Given the description of an element on the screen output the (x, y) to click on. 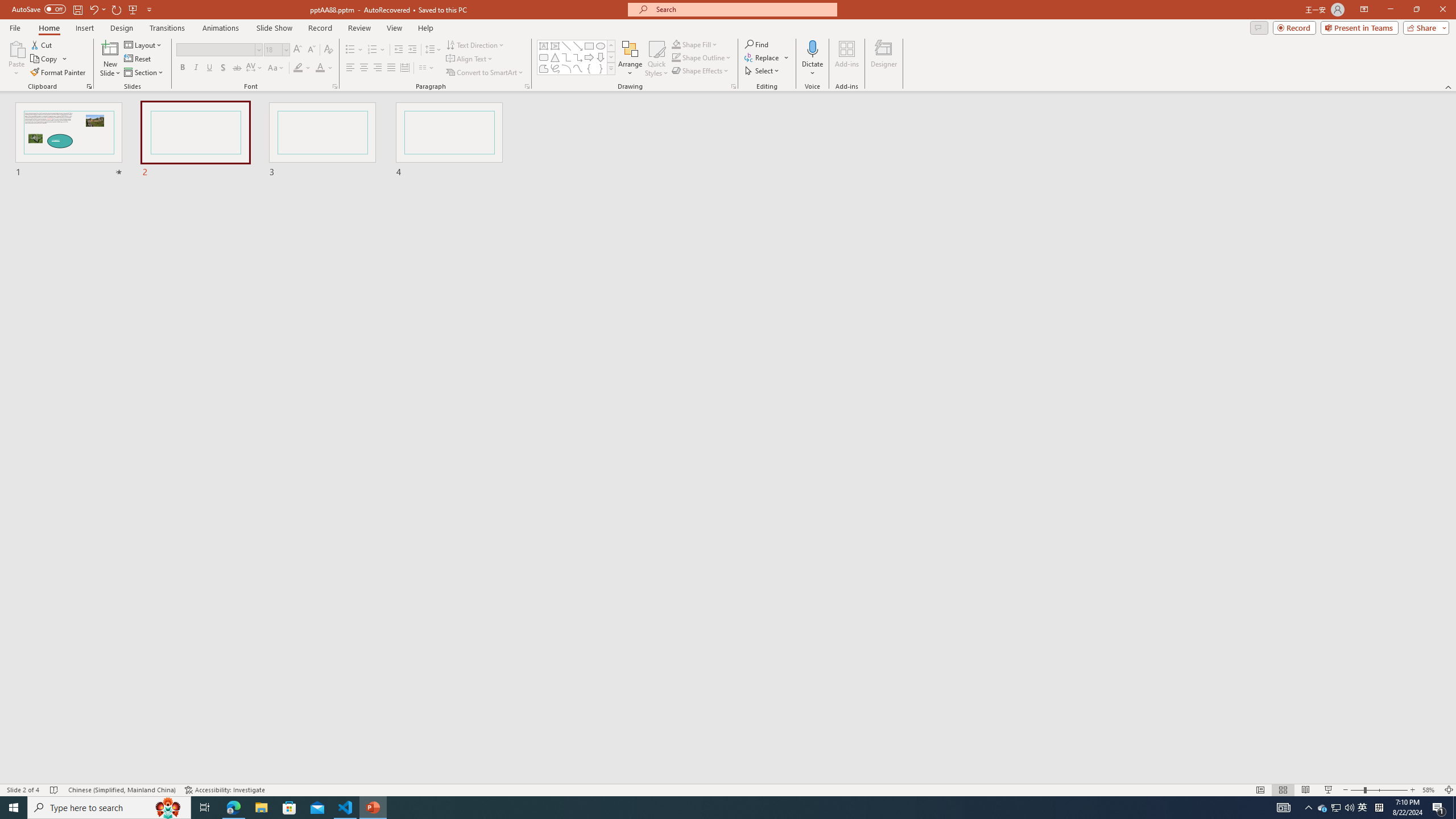
Zoom 58% (1430, 790)
